Given the description of an element on the screen output the (x, y) to click on. 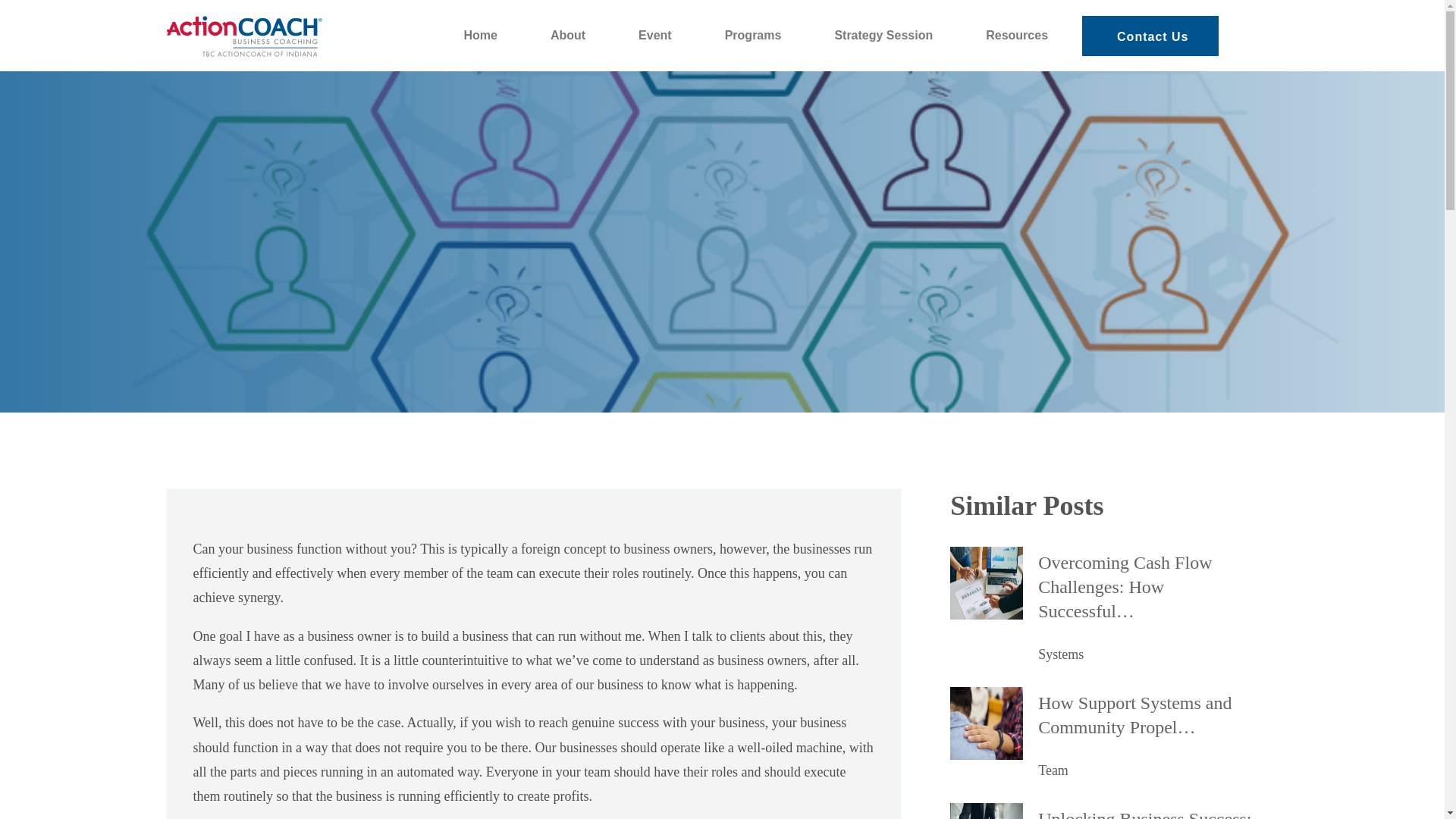
Home (479, 35)
Programs (753, 35)
Strategy Session (883, 35)
About (567, 35)
Event (654, 35)
Resources (1016, 35)
Action Coach (205, 65)
